Given the description of an element on the screen output the (x, y) to click on. 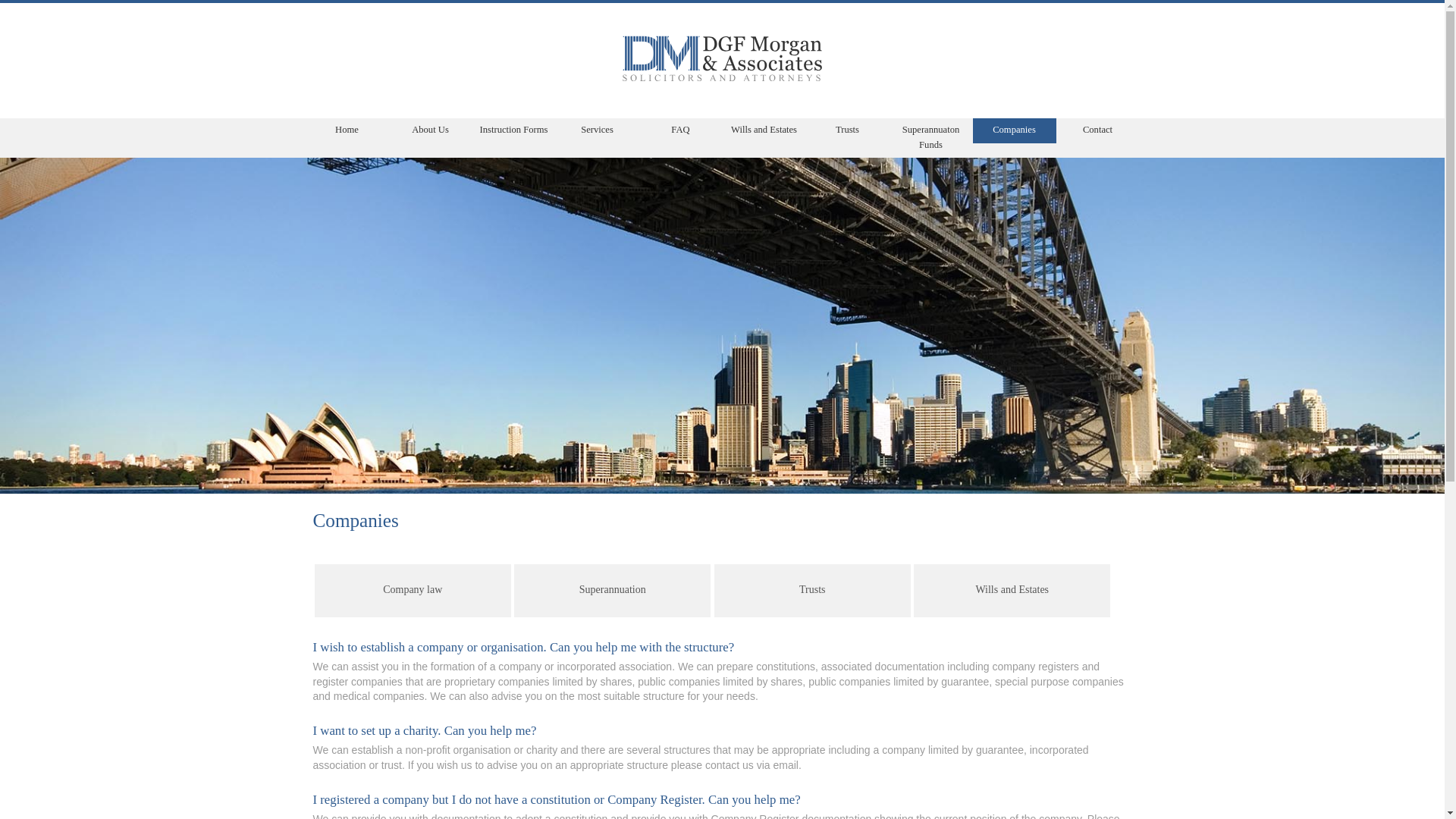
Services Element type: text (596, 130)
Wills and Estates Element type: text (763, 130)
FAQ Element type: text (679, 130)
Home Element type: text (346, 130)
Companies Element type: text (1013, 130)
Trusts Element type: text (846, 130)
Wills and Estates Element type: text (1011, 590)
Trusts Element type: text (812, 590)
Company law Element type: text (412, 590)
Superannuaton Funds Element type: text (930, 137)
About Us Element type: text (429, 130)
Superannuation Element type: text (612, 590)
Contact Element type: text (1097, 130)
Instruction Forms Element type: text (513, 130)
